Given the description of an element on the screen output the (x, y) to click on. 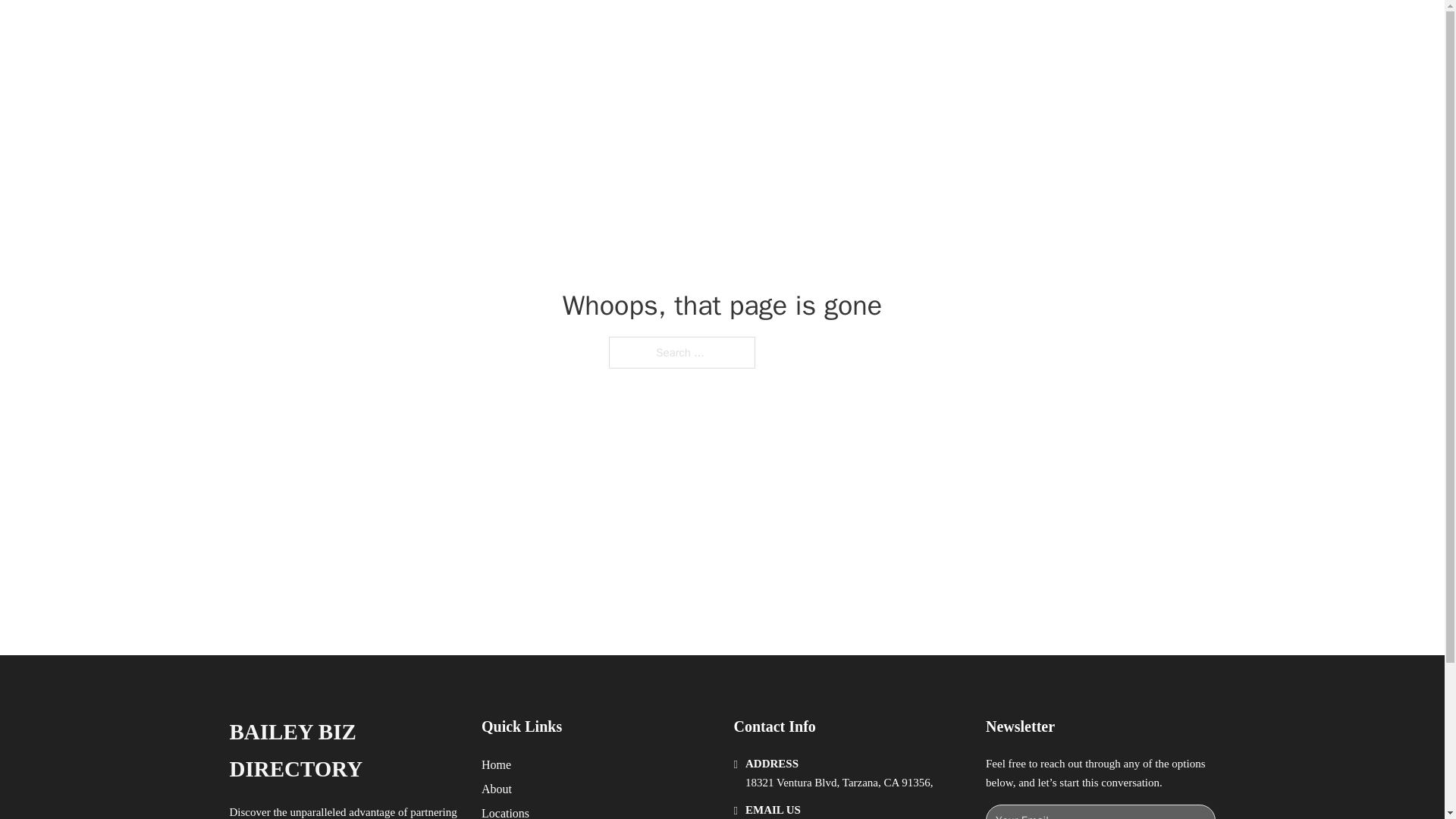
BAILEY BIZ DIRECTORY (343, 750)
BAILEY BIZ DIRECTORY (423, 28)
Locations (505, 811)
LOCATIONS (990, 29)
Home (496, 764)
HOME (919, 29)
About (496, 788)
